Given the description of an element on the screen output the (x, y) to click on. 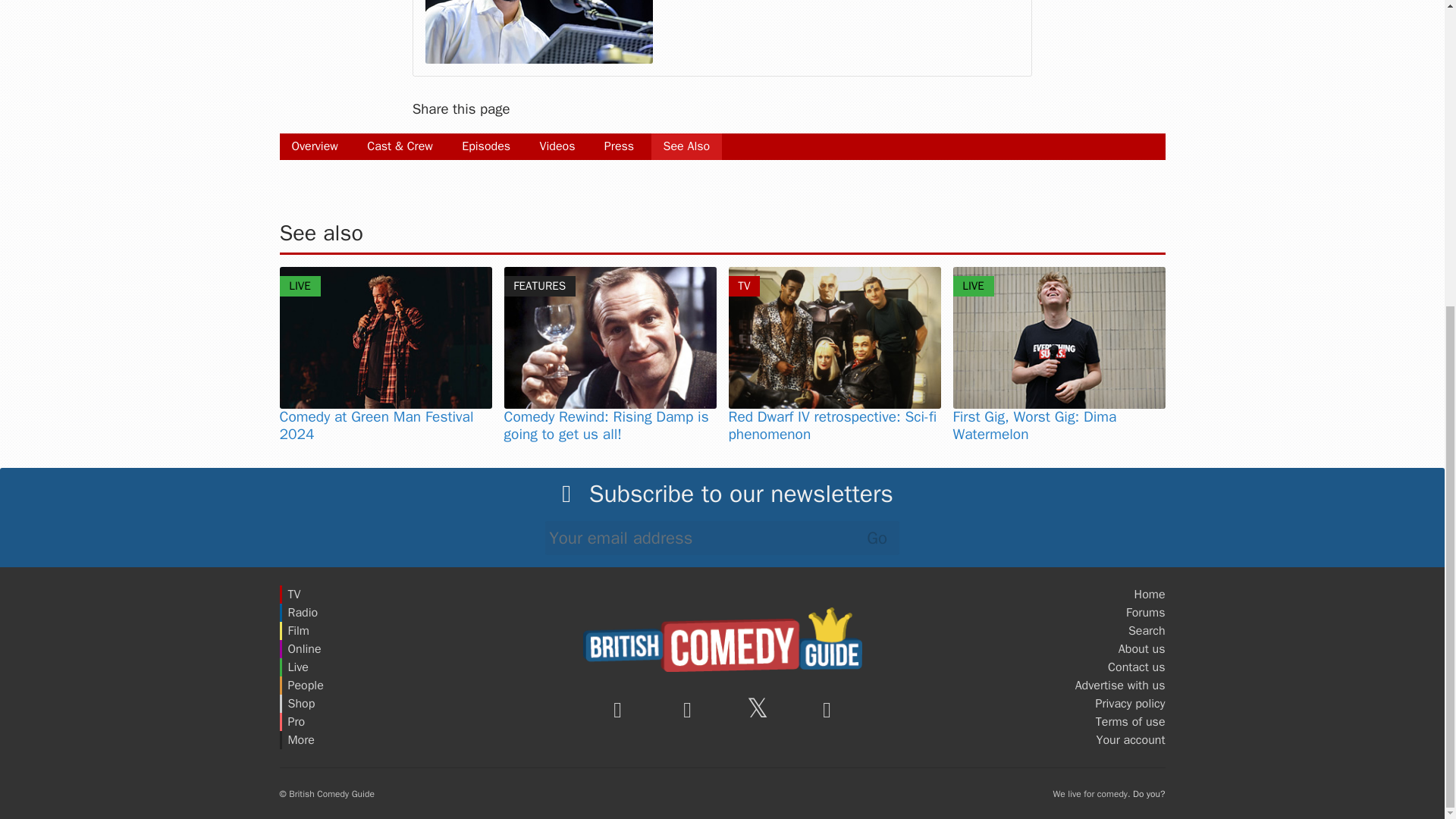
Episodes (485, 146)
Overview (314, 146)
Videos (556, 146)
TEZ Talks. Tez Ilyas. Copyright: BBC (538, 31)
Press (619, 146)
Green Man 2024. Stewart Lee. Credit: Patrick Gunning (385, 337)
Dima Watermelon (1058, 337)
